Given the description of an element on the screen output the (x, y) to click on. 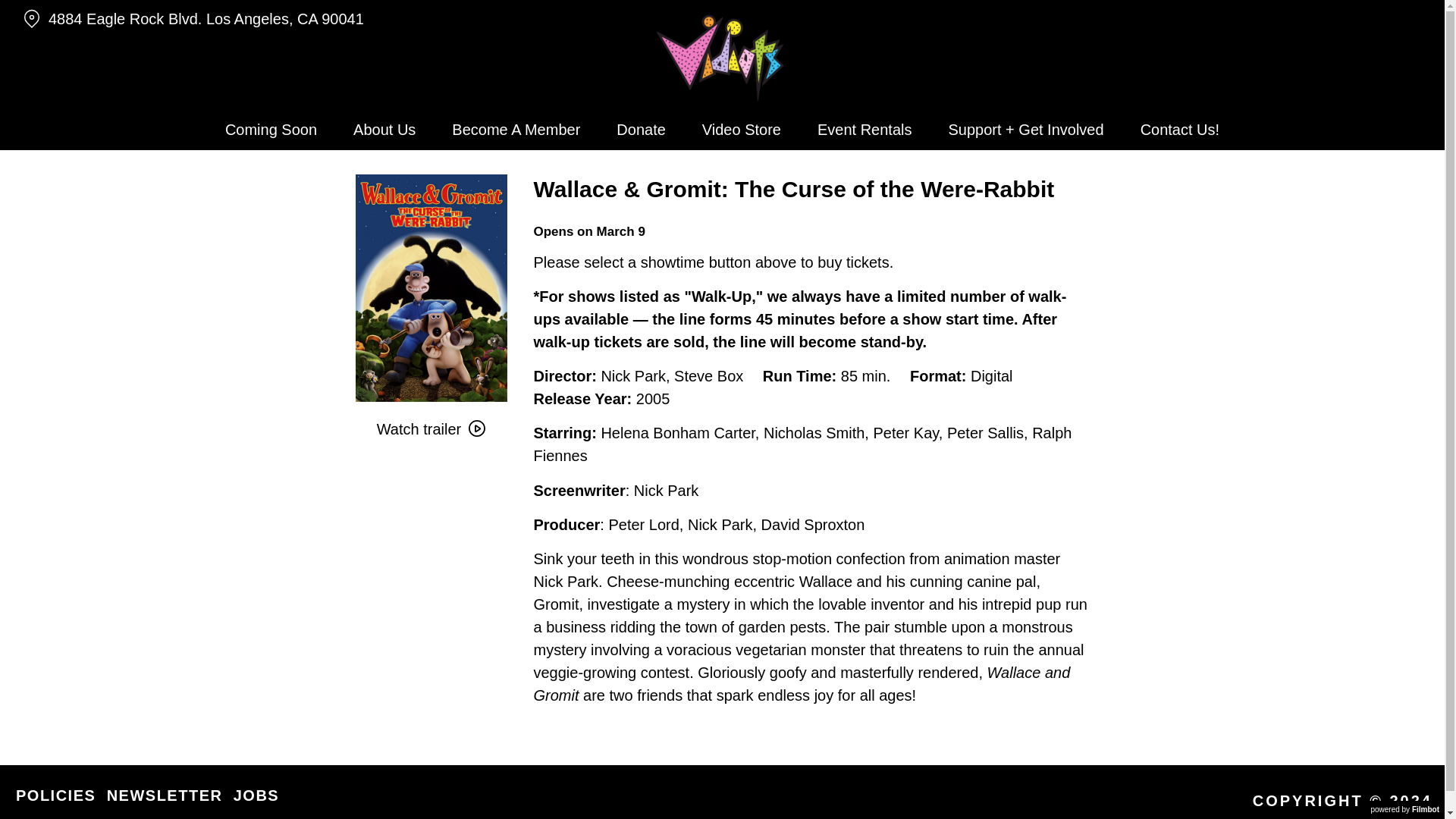
4884 Eagle Rock Blvd. Los Angeles, CA 90041 (250, 18)
Event Rentals (864, 128)
twitter (1391, 13)
facebook (1420, 13)
Become A Member (515, 128)
POLICIES (56, 796)
Video Store (741, 128)
About Us (384, 128)
Contact Us! (1179, 128)
Watch trailer (430, 429)
Donate (641, 128)
Coming Soon (270, 128)
instagram (1363, 13)
